Given the description of an element on the screen output the (x, y) to click on. 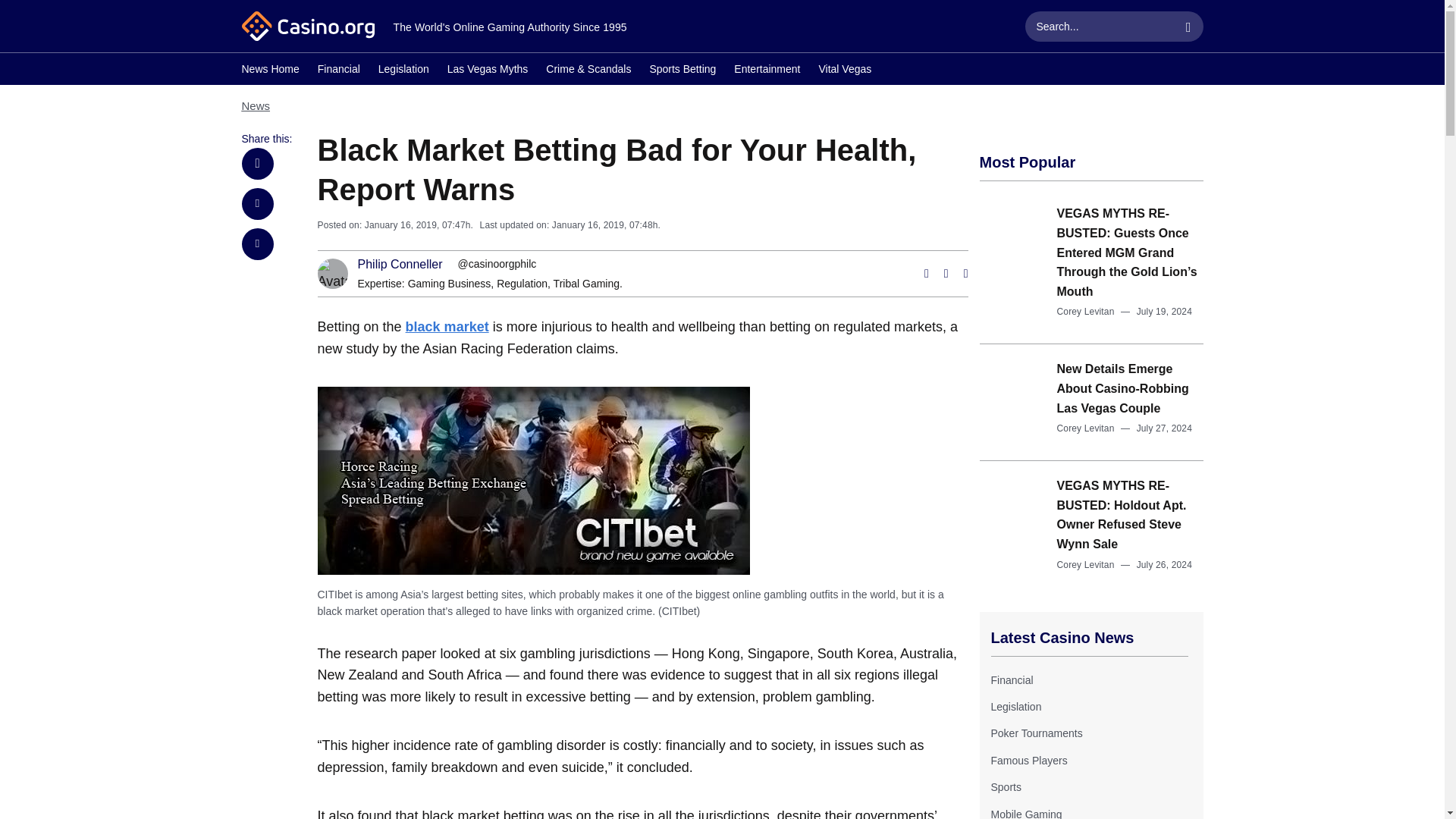
Financial (1011, 680)
Sports (1005, 787)
Famous Players (1028, 760)
Mobile Gaming (1025, 813)
Corey Levitan (1086, 311)
News Home (269, 70)
Entertainment (766, 70)
Regulation (521, 283)
Financial (338, 70)
Corey Levitan (1086, 428)
Vital Vegas (845, 70)
Legislation (1015, 706)
Philip Conneller (400, 264)
Las Vegas Myths (487, 70)
New Details Emerge About Casino-Robbing Las Vegas Couple (1123, 388)
